Given the description of an element on the screen output the (x, y) to click on. 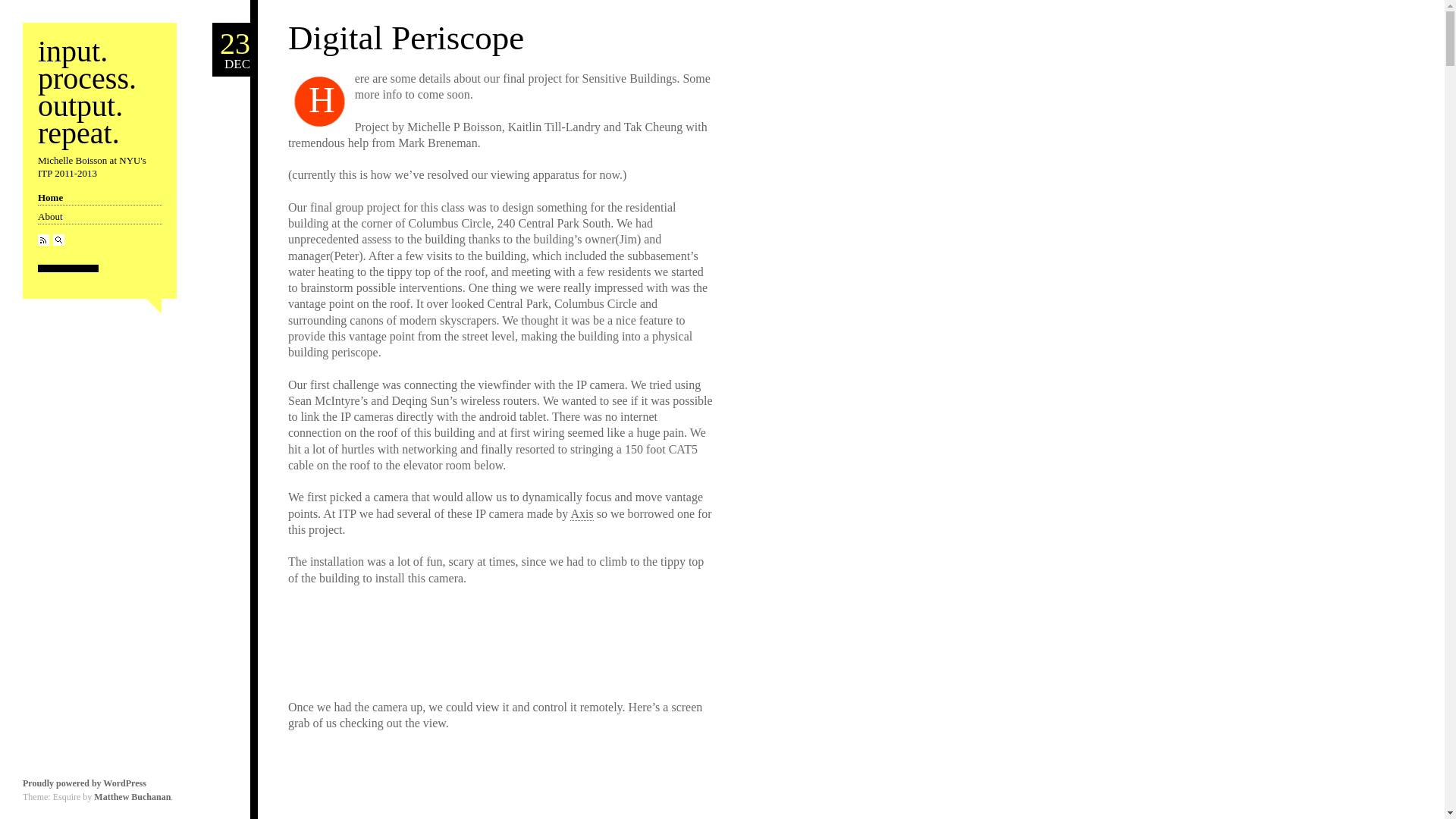
Search (58, 239)
Skip to content (60, 196)
Home (231, 50)
input. process. output. repeat. (99, 198)
Skip to content (86, 91)
Digital Periscope (60, 196)
Axis (406, 37)
input. process. output. repeat. (581, 513)
RSS (86, 91)
About (43, 239)
RSS Feed (99, 217)
Permalink to Digital Periscope (43, 239)
Search (406, 37)
